Given the description of an element on the screen output the (x, y) to click on. 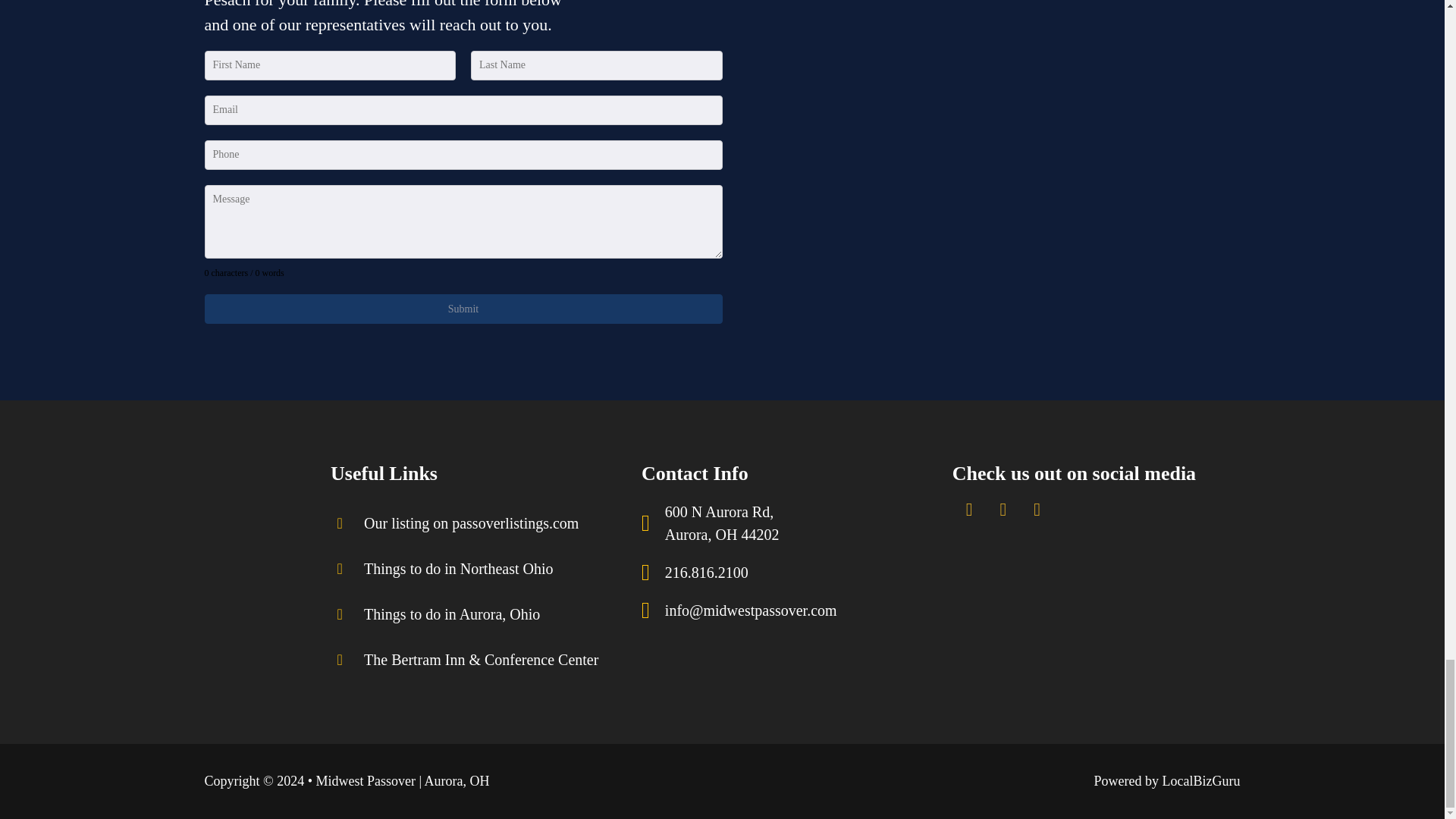
Things to do in Aurora, Ohio (448, 613)
Powered by LocalBizGuru (1167, 781)
Things to do in Northeast Ohio (718, 523)
Submit (454, 568)
216.816.2100 (463, 308)
Our listing on passoverlistings.com (702, 572)
